Given the description of an element on the screen output the (x, y) to click on. 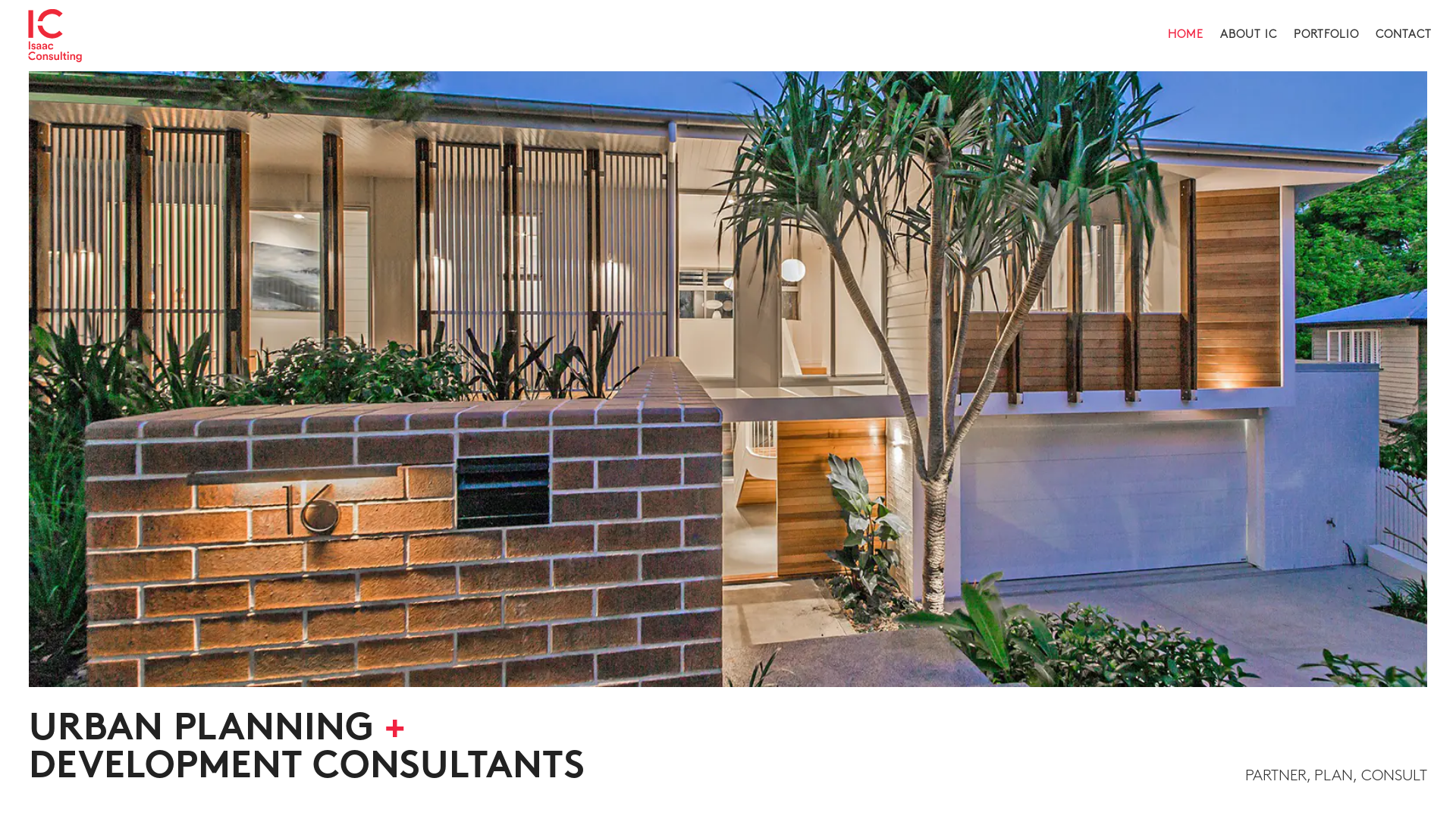
CONTACT Element type: text (1403, 50)
HOME Element type: text (1185, 50)
PORTFOLIO Element type: text (1325, 50)
ABOUT IC Element type: text (1248, 50)
